Given the description of an element on the screen output the (x, y) to click on. 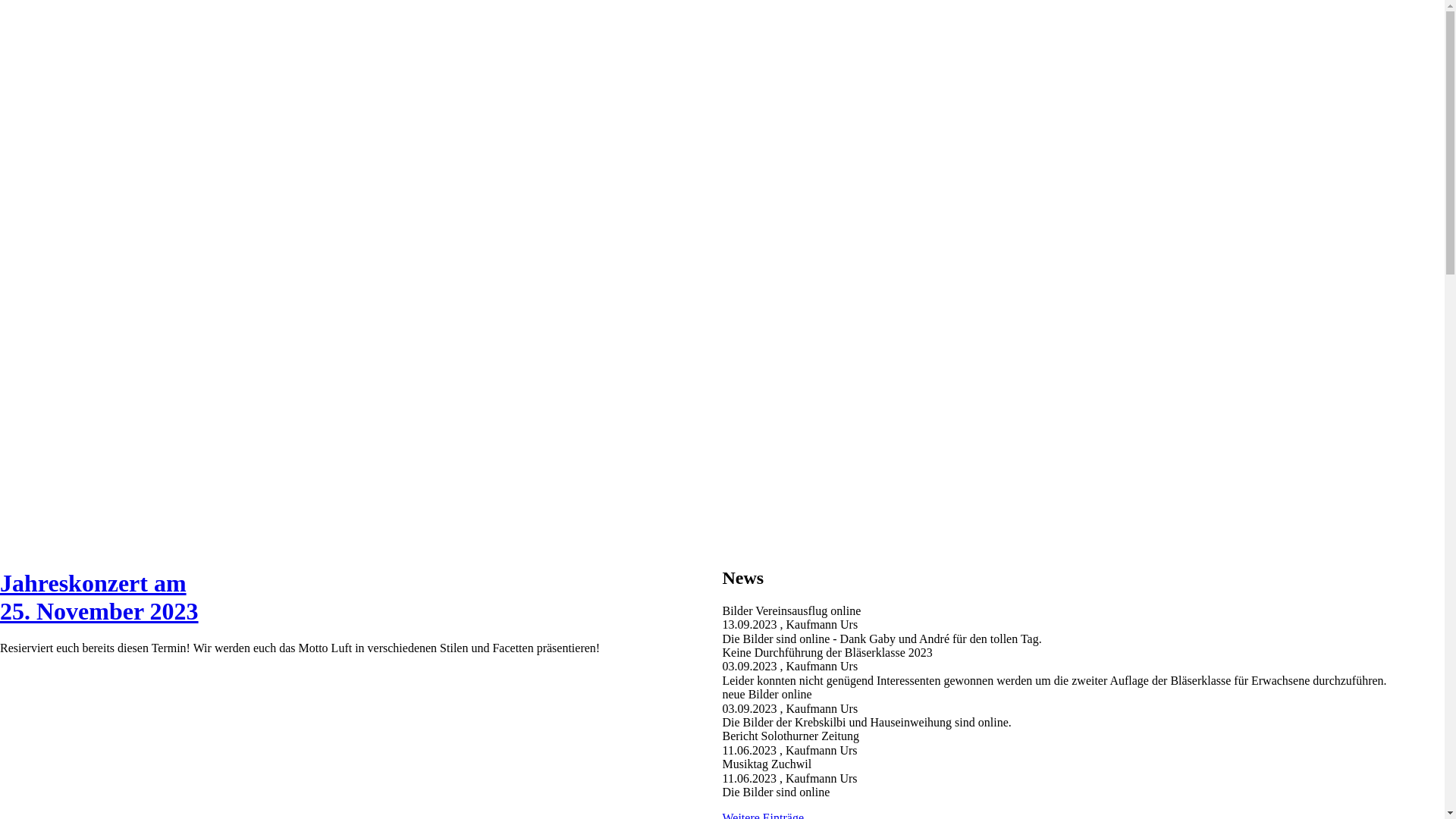
Willkommen Element type: text (62, 227)
Willkommen Element type: text (62, 363)
Fotoimpressionen Element type: text (73, 282)
Fotoimpressionen Element type: text (73, 418)
Akzeptieren Element type: text (76, 19)
Impressum Element type: text (57, 432)
Ablehnen Element type: text (23, 19)
unser Verein Element type: text (60, 254)
Impressum Element type: text (57, 297)
Links Element type: text (43, 446)
Kontakt Element type: text (49, 404)
Jahreskonzert am
25. November 2023 Element type: text (99, 596)
Musikgesellschaft Recherswil Element type: text (87, 187)
Mehr Infos Element type: text (27, 6)
Links Element type: text (43, 310)
Login Element type: text (16, 201)
Kontakt Element type: text (49, 269)
Bericht Solothurner Zeitung
11.06.2023 , Kaufmann Urs Element type: text (1082, 743)
unser Verein Element type: text (60, 390)
